Given the description of an element on the screen output the (x, y) to click on. 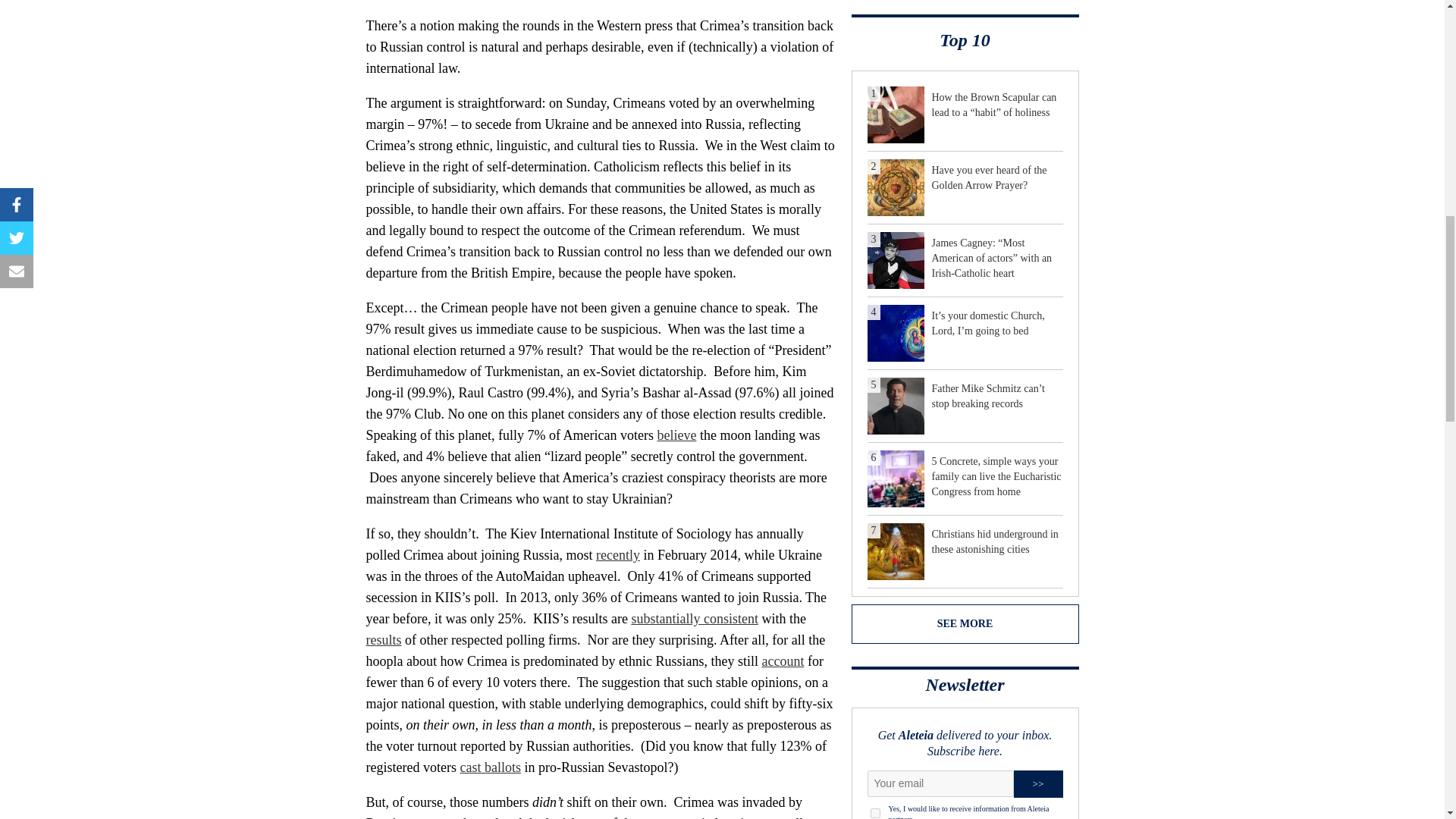
recently (617, 554)
1 (875, 813)
believe (675, 435)
